Given the description of an element on the screen output the (x, y) to click on. 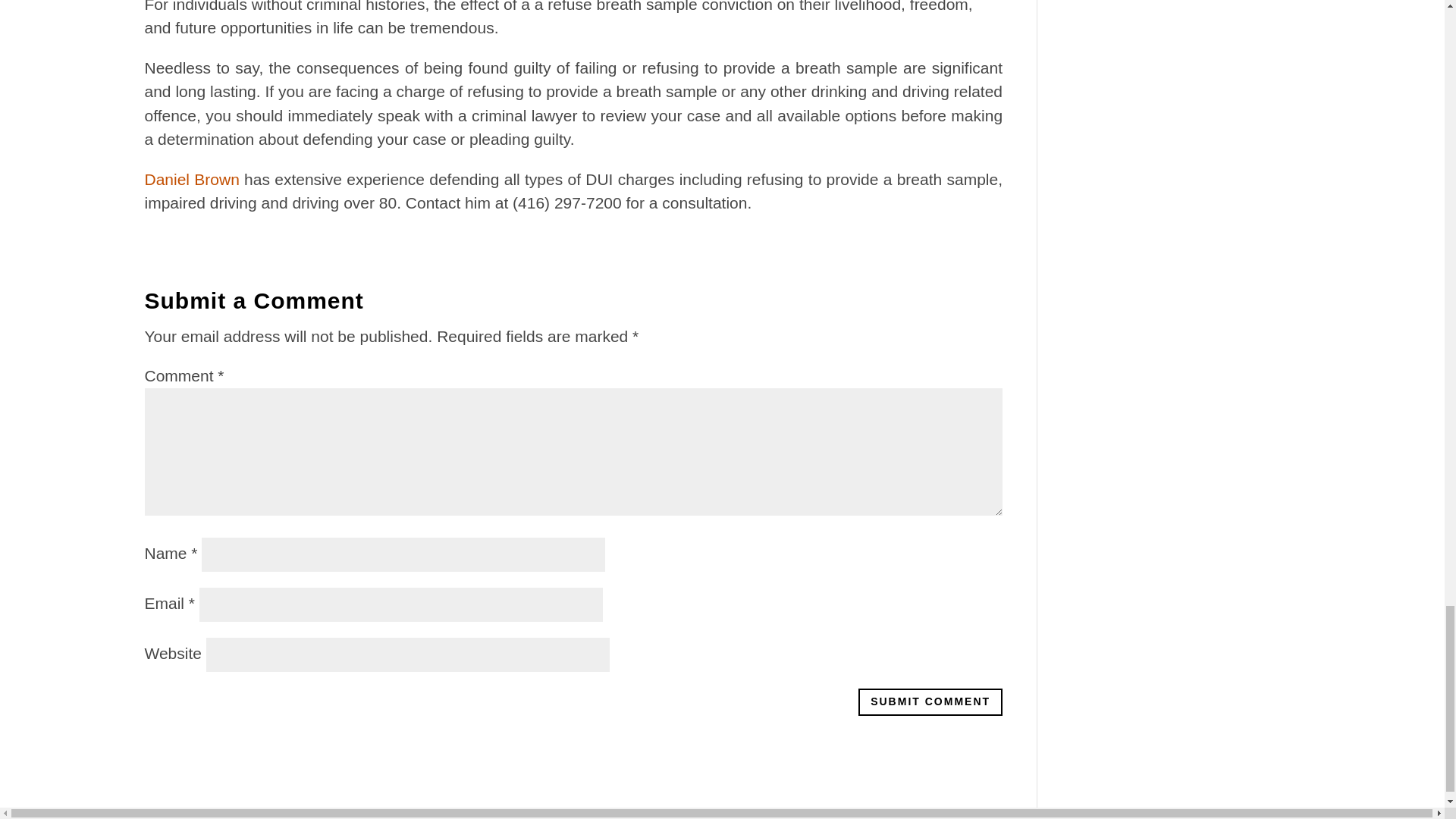
Submit Comment (931, 701)
